Given the description of an element on the screen output the (x, y) to click on. 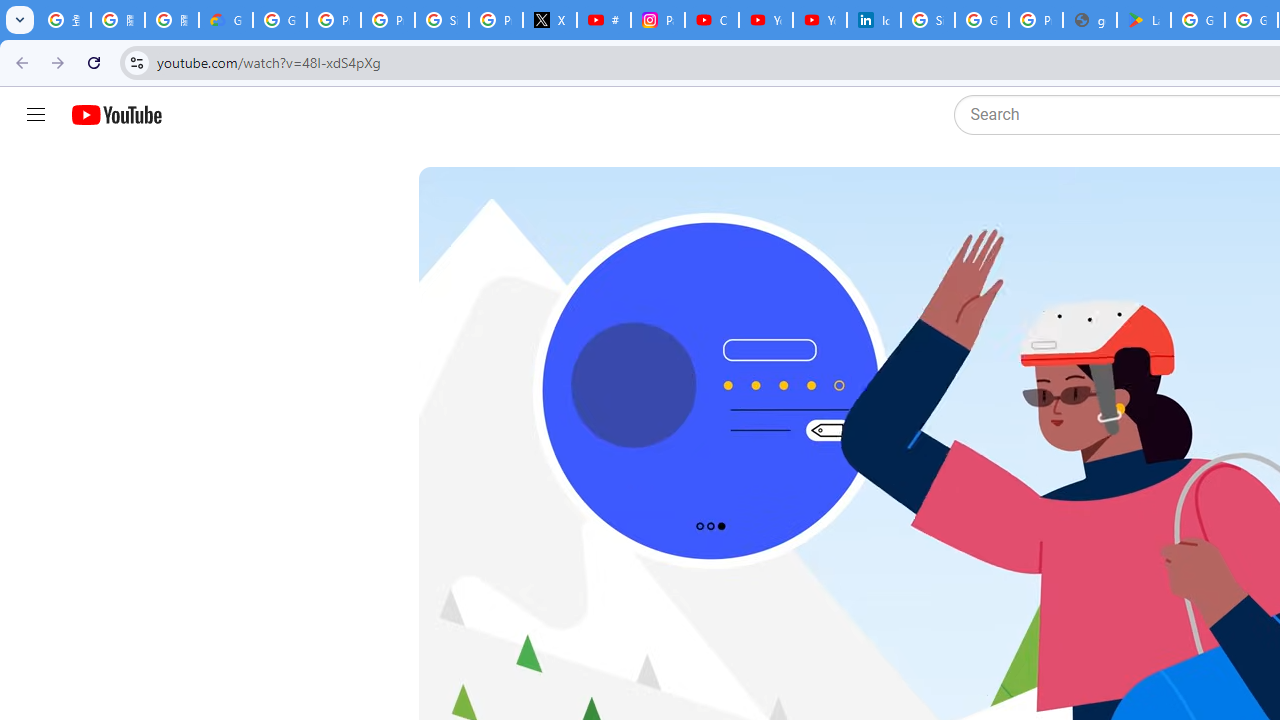
google_privacy_policy_en.pdf (1089, 20)
Guide (35, 115)
Identity verification via Persona | LinkedIn Help (874, 20)
Privacy Help Center - Policies Help (387, 20)
Sign in - Google Accounts (441, 20)
Sign in - Google Accounts (927, 20)
YouTube Home (116, 115)
#nbabasketballhighlights - YouTube (604, 20)
